Given the description of an element on the screen output the (x, y) to click on. 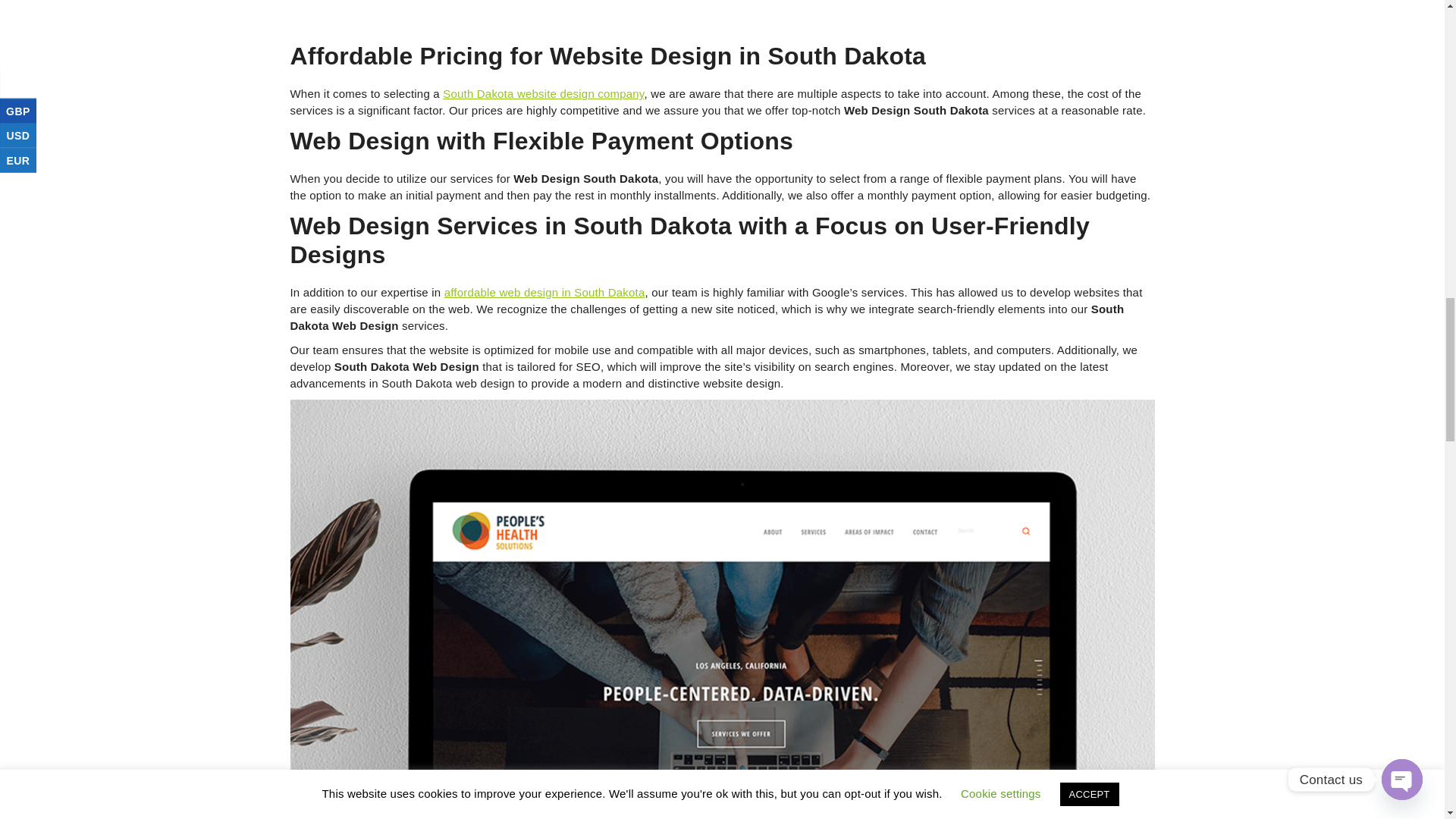
YouTube player (721, 17)
